Given the description of an element on the screen output the (x, y) to click on. 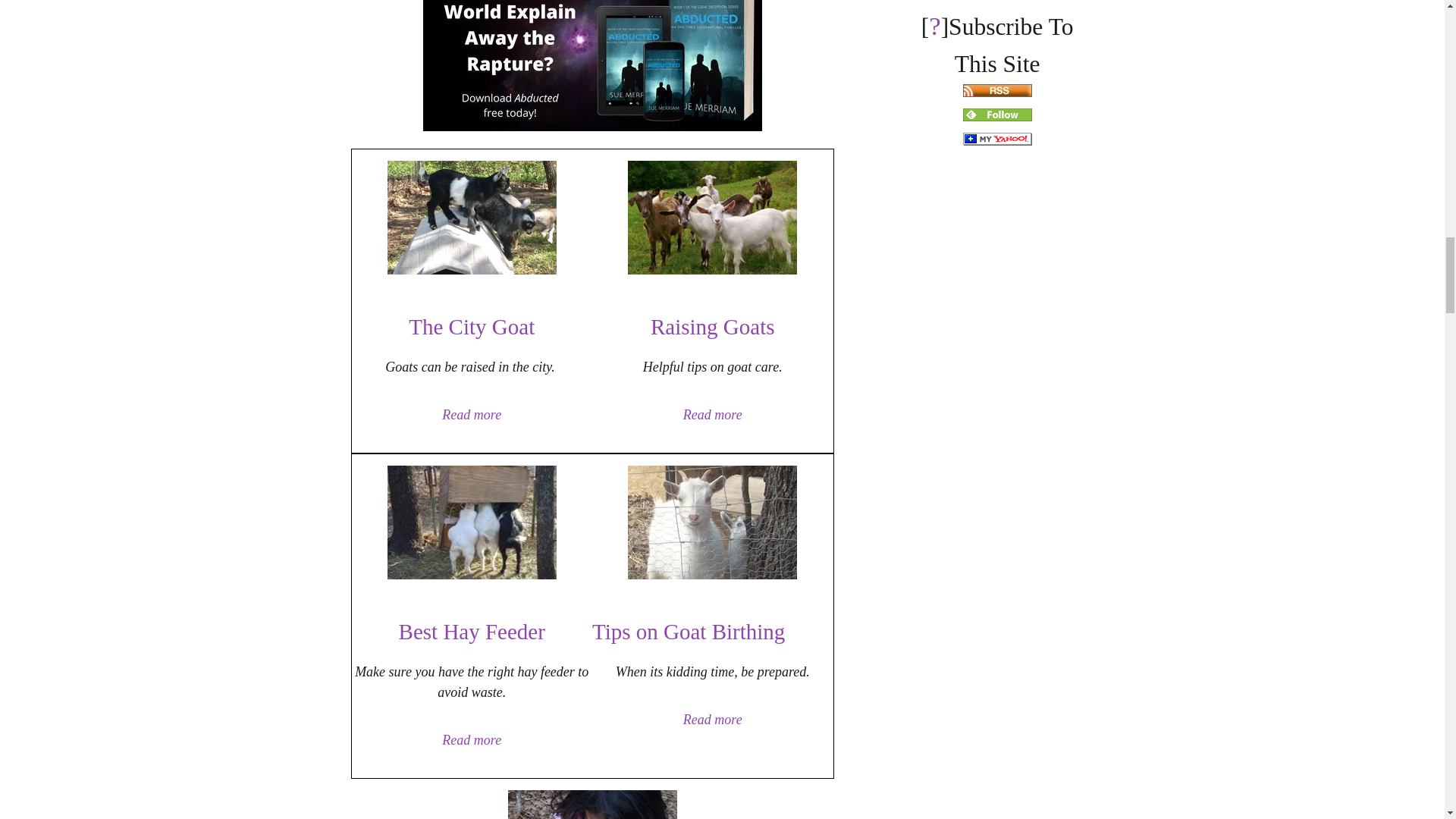
Go to Goat Birthing - The Essentials (711, 574)
Raising Goats (712, 325)
The City Goat (471, 325)
Read more (471, 414)
Go to Goat Hay Feeders - Give Your Goats Hay and Avoid Waste (471, 574)
Go to Caring for Goats in the City (471, 269)
